Given the description of an element on the screen output the (x, y) to click on. 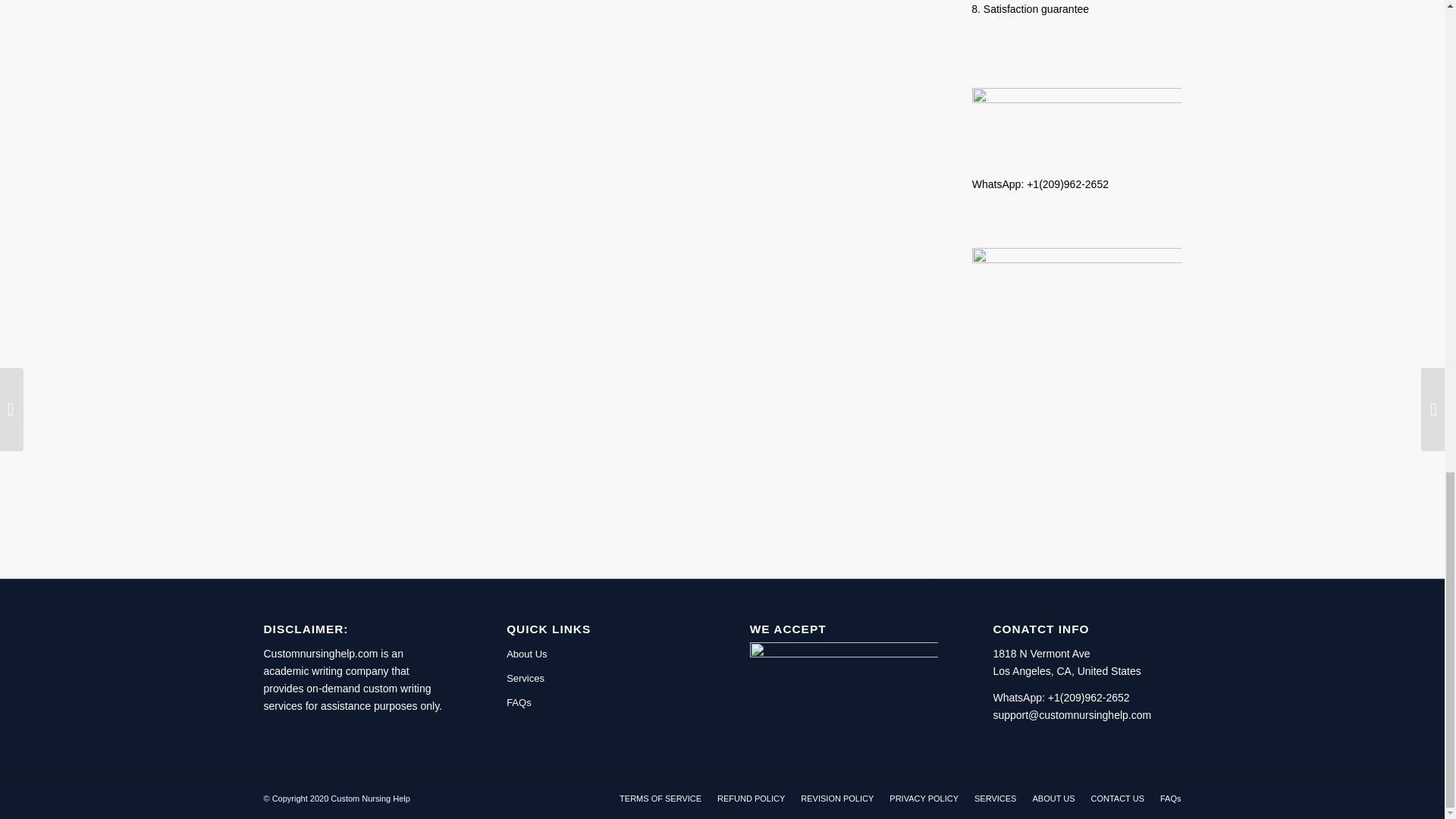
SERVICES (995, 798)
REVISION POLICY (836, 798)
FAQs (1170, 798)
CONTACT US (1117, 798)
About Us (600, 654)
FAQs (600, 702)
TERMS OF SERVICE (660, 798)
ABOUT US (1053, 798)
PRIVACY POLICY (923, 798)
REFUND POLICY (750, 798)
Services (600, 678)
